Given the description of an element on the screen output the (x, y) to click on. 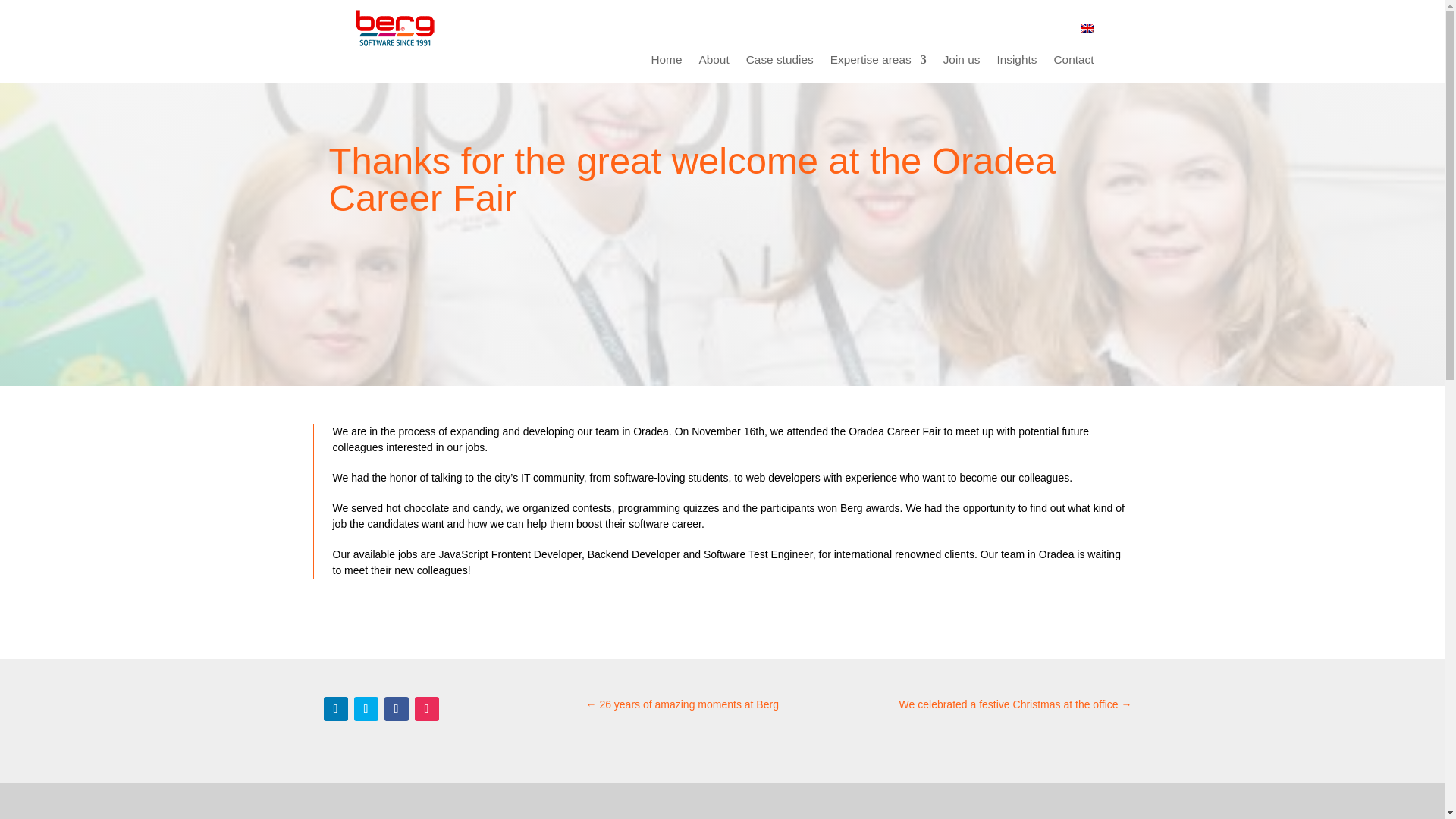
Expertise areas (877, 62)
Follow on Twitter (365, 708)
Follow on LinkedIn (335, 708)
Follow on Instagram (425, 708)
Home (665, 62)
Insights (1015, 62)
Join us (961, 62)
Follow on Facebook (395, 708)
Case studies (779, 62)
About (713, 62)
